Given the description of an element on the screen output the (x, y) to click on. 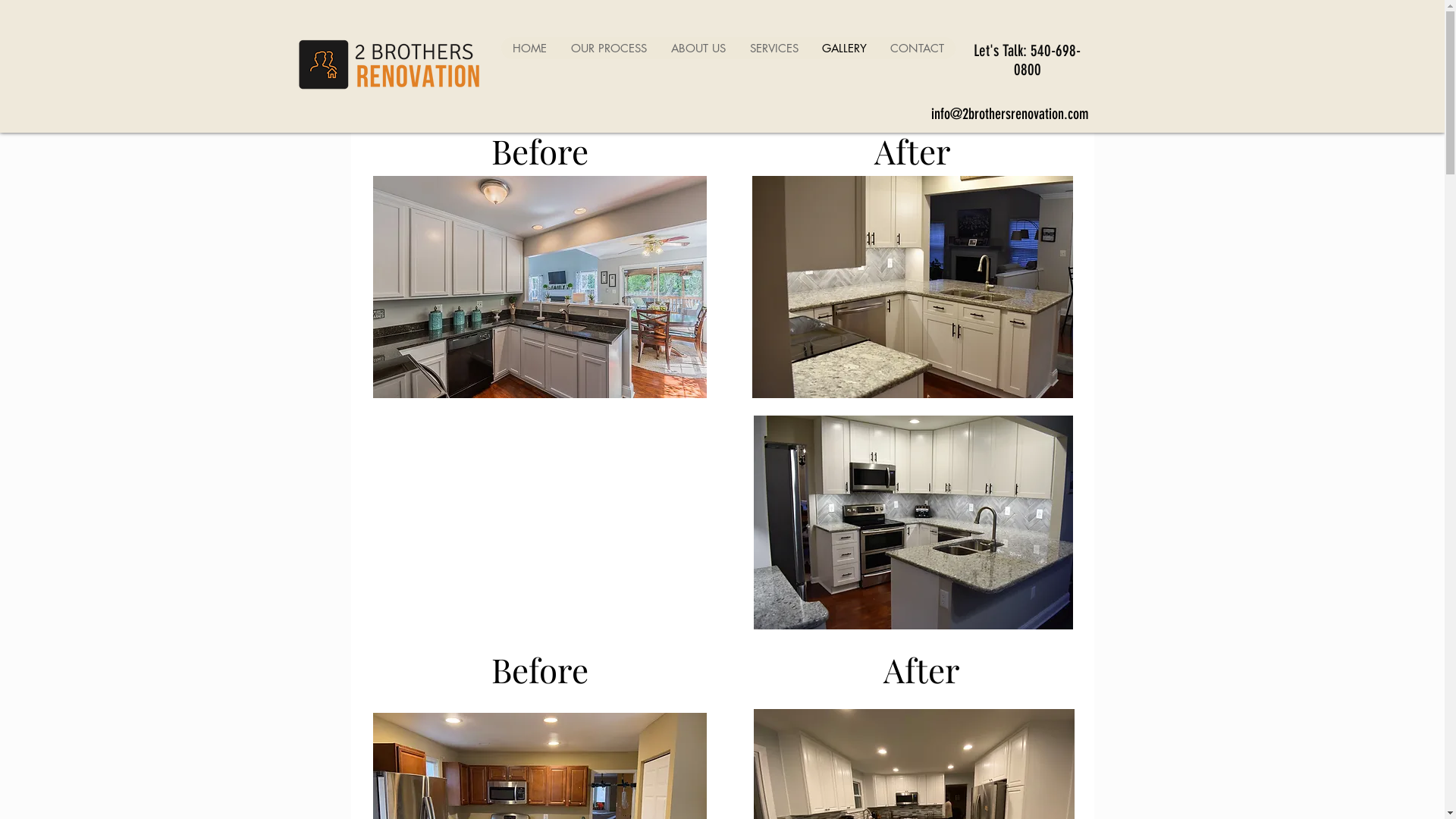
ABOUT US Element type: text (697, 48)
SERVICES Element type: text (773, 48)
HOME Element type: text (529, 48)
CONTACT Element type: text (916, 48)
OUR PROCESS Element type: text (608, 48)
info@2brothersrenovation.com Element type: text (1009, 113)
GALLERY Element type: text (843, 48)
